Given the description of an element on the screen output the (x, y) to click on. 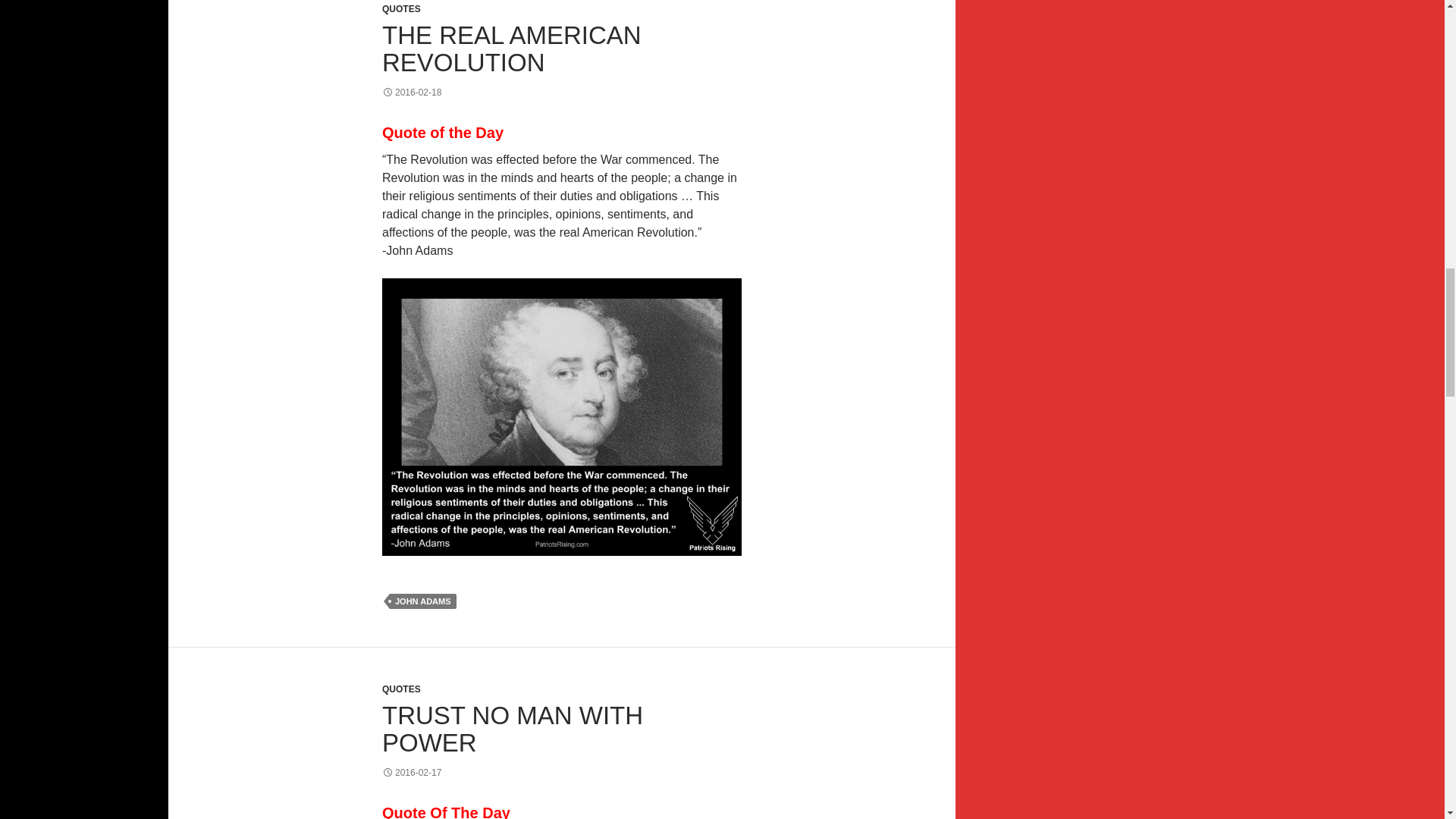
2016-02-18 (411, 91)
TRUST NO MAN WITH POWER (512, 728)
2016-02-17 (411, 772)
QUOTES (400, 688)
THE REAL AMERICAN REVOLUTION (511, 48)
JOHN ADAMS (423, 601)
QUOTES (400, 9)
